Given the description of an element on the screen output the (x, y) to click on. 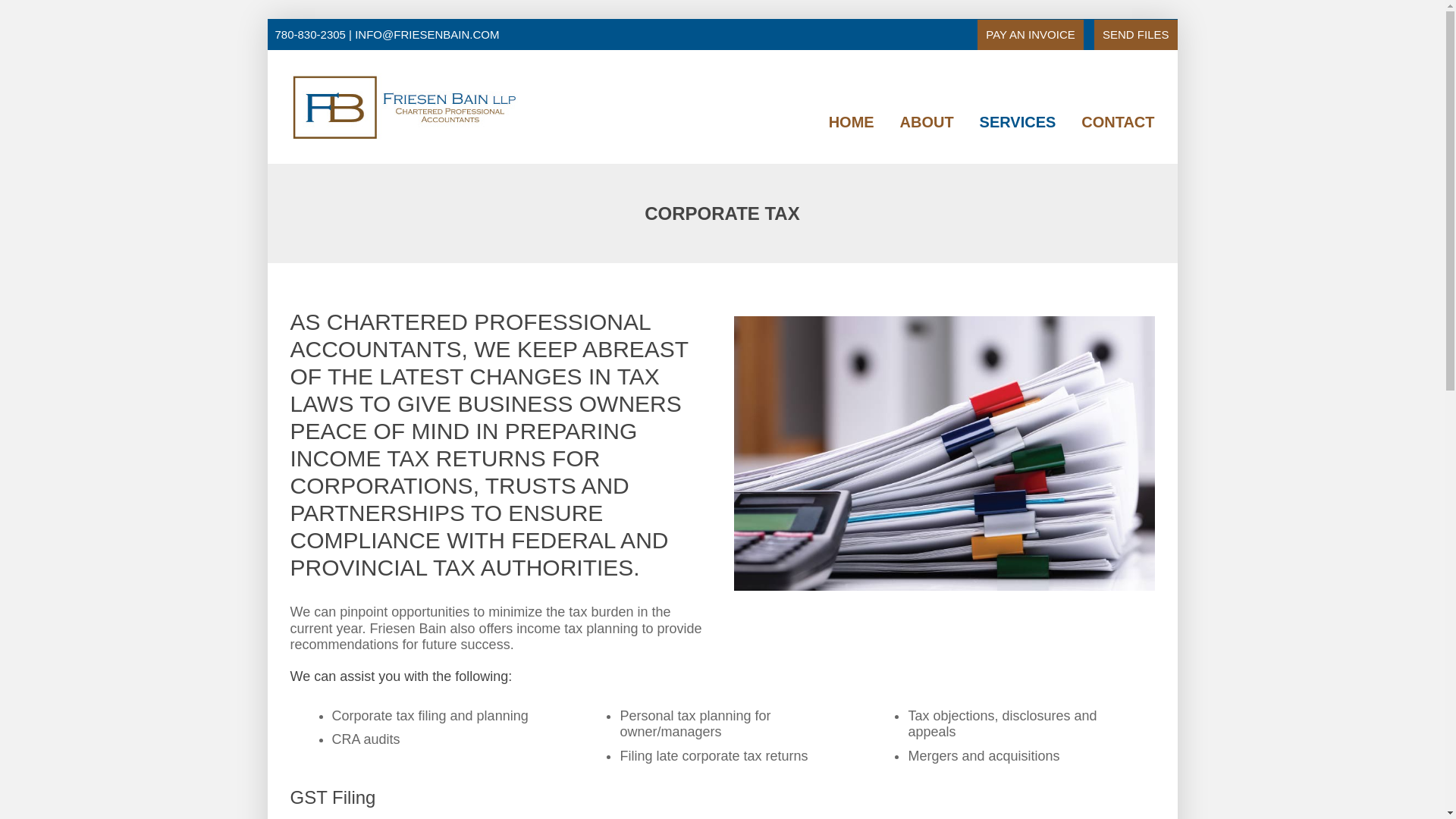
HOME (850, 122)
CONTACT (1118, 122)
PAY AN INVOICE (1030, 33)
ABOUT (926, 122)
SERVICES (1017, 122)
SEND FILES (1135, 33)
